Given the description of an element on the screen output the (x, y) to click on. 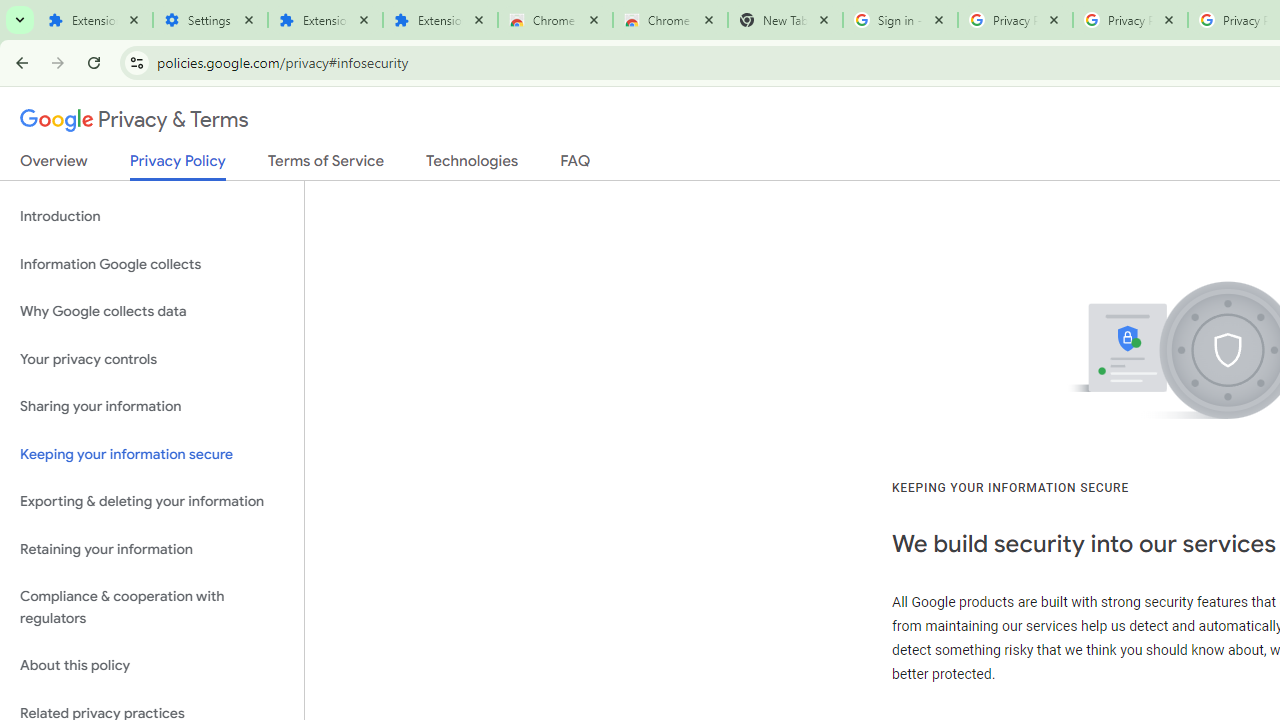
About this policy (152, 666)
Sharing your information (152, 407)
Why Google collects data (152, 312)
Retaining your information (152, 548)
Your privacy controls (152, 358)
Extensions (95, 20)
Compliance & cooperation with regulators (152, 607)
Keeping your information secure (152, 453)
Information Google collects (152, 263)
FAQ (575, 165)
Introduction (152, 216)
Exporting & deleting your information (152, 502)
